Given the description of an element on the screen output the (x, y) to click on. 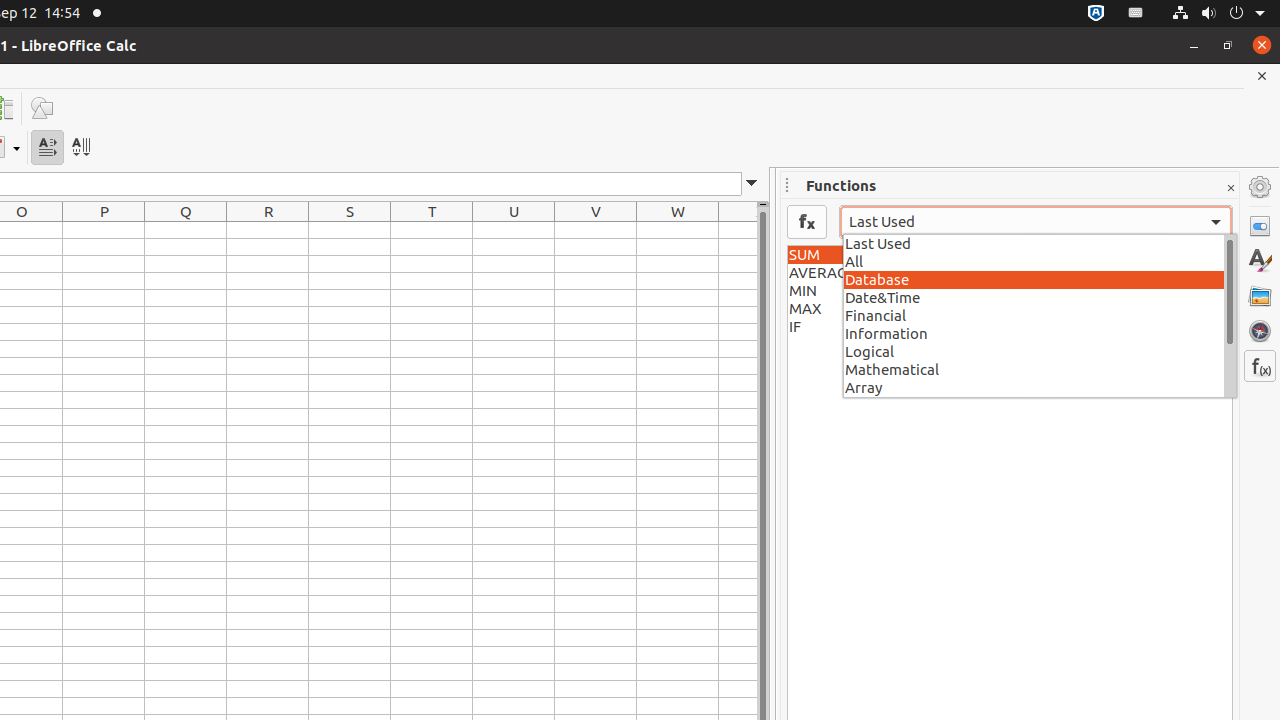
Date&Time Element type: list-item (1040, 297)
IF Element type: list-item (1010, 327)
U1 Element type: table-cell (514, 230)
:1.21/StatusNotifierItem Element type: menu (1136, 13)
Array Element type: list-item (1040, 387)
